Given the description of an element on the screen output the (x, y) to click on. 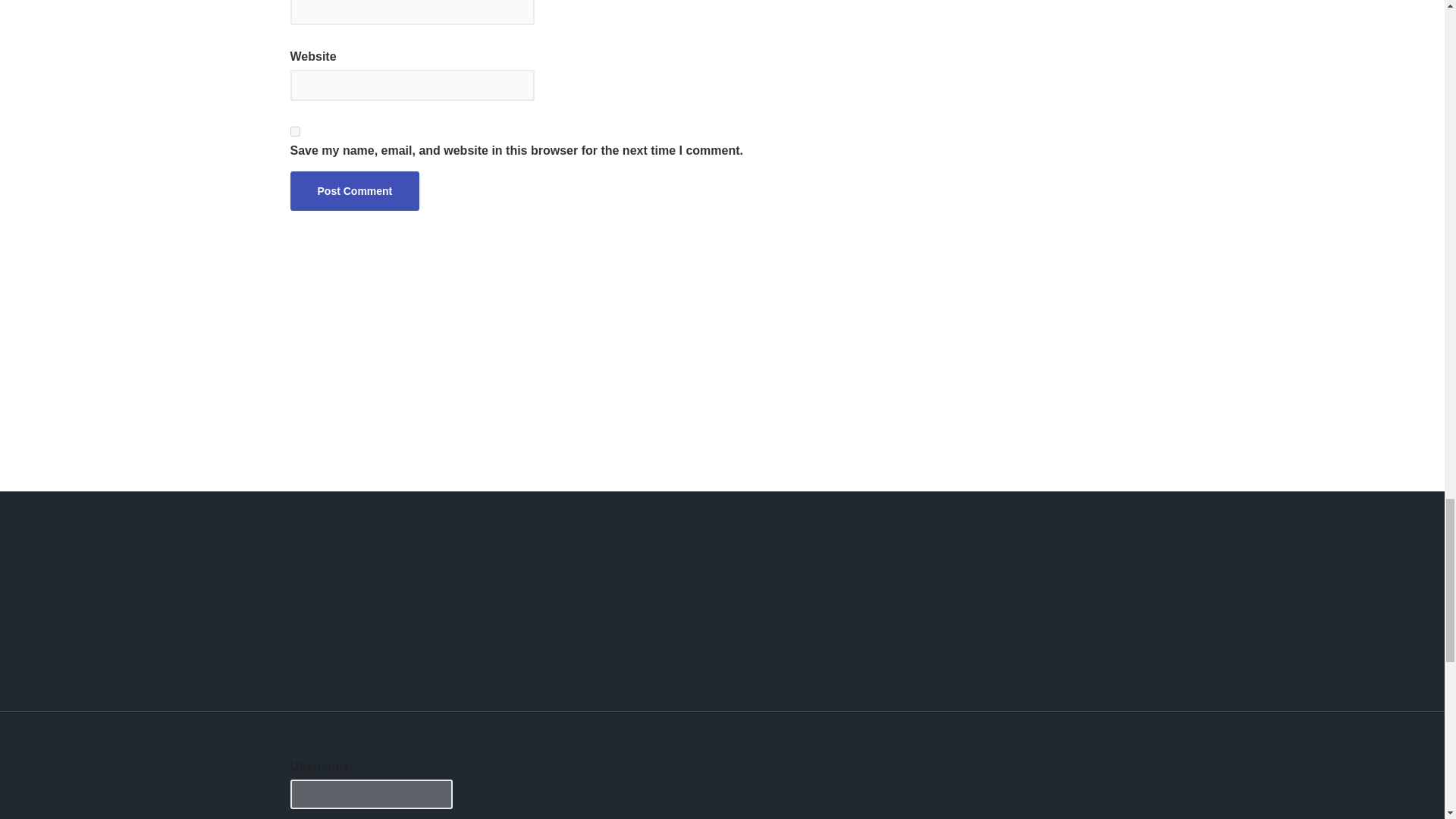
Post Comment (354, 190)
Post Comment (354, 190)
yes (294, 131)
